Given the description of an element on the screen output the (x, y) to click on. 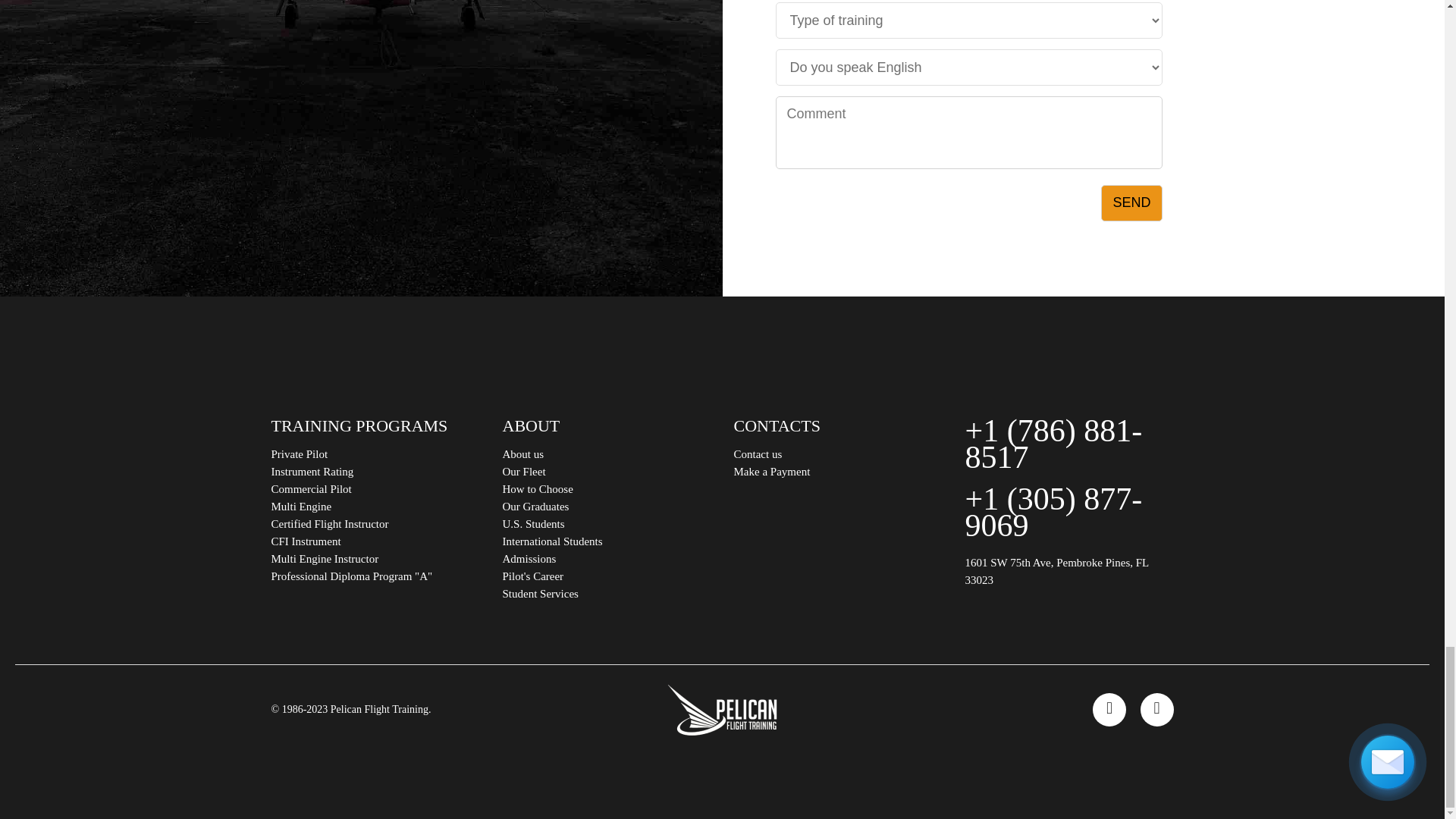
Send (1130, 203)
CFI Instrument (305, 541)
Multi Engine Instructor (324, 558)
AIRPLANE INSTRUMENT INSTRUCTOR RATING (311, 471)
PROFESSIONAL PILOT PROGRAM  (351, 576)
Multi Engine (300, 506)
Follow us on Facebook (1109, 709)
Commercial Pilot (311, 489)
Follow us on Instagram (1156, 709)
Certified Flight Instructor (329, 523)
Send (1130, 203)
Private Pilot (299, 453)
MULTI-ENGINE INSTRUCTOR PROGRAM (324, 558)
AIRPLANE FLIGHT INSTRUCTOR CERTIFICATION (329, 523)
Instrument Rating (311, 471)
